Given the description of an element on the screen output the (x, y) to click on. 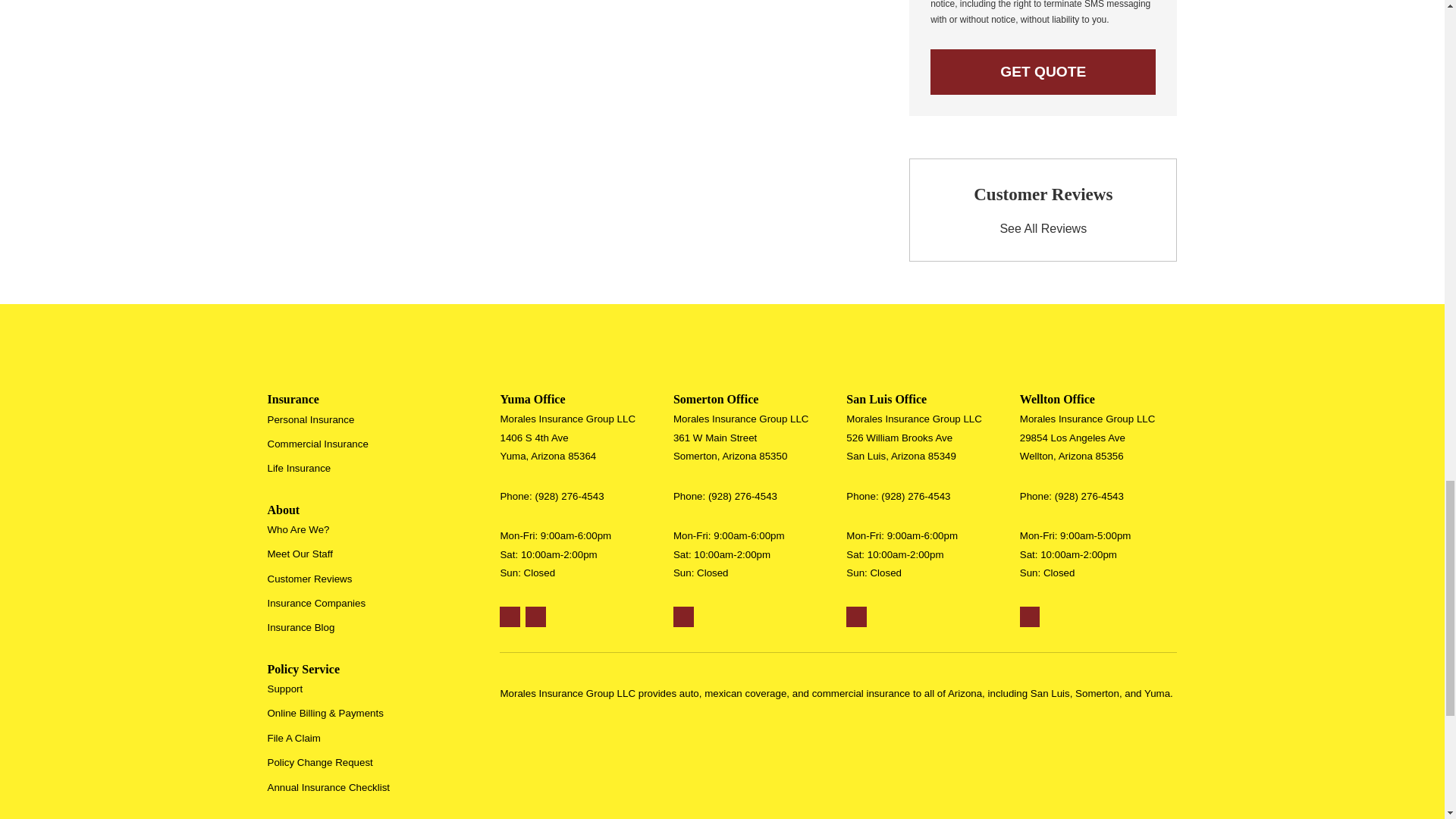
Google Maps (509, 616)
Facebook (535, 616)
Google Maps (1030, 616)
Google Maps (683, 616)
Google Maps (855, 616)
Get Quote (1043, 72)
